Given the description of an element on the screen output the (x, y) to click on. 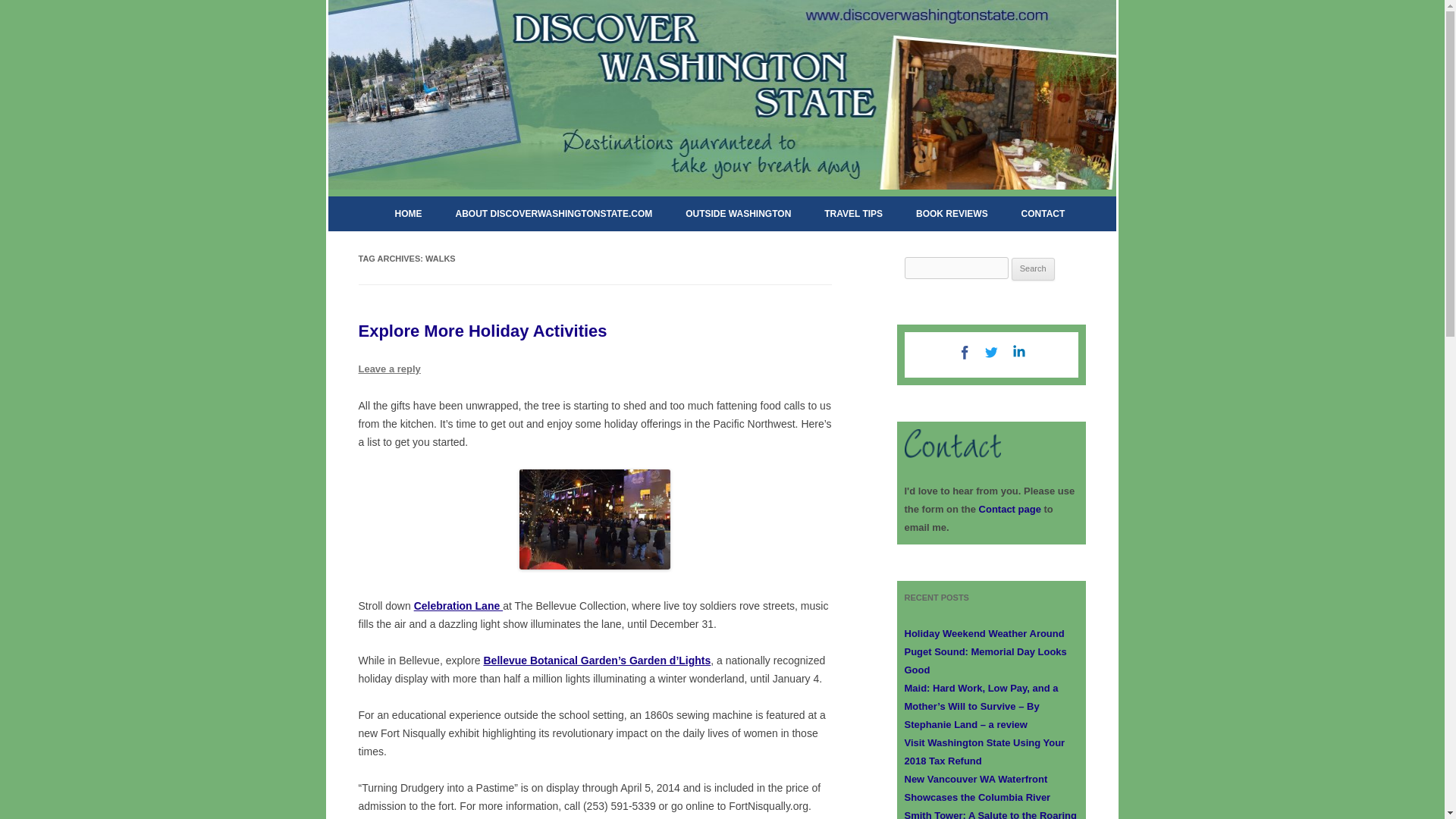
OUTSIDE WASHINGTON (737, 213)
Celebration Lane (457, 605)
HOME (408, 213)
DSCF0249 (594, 519)
CONTACT (1043, 213)
Explore More Holiday Activities (482, 330)
BOOK REVIEWS (951, 213)
TRAVEL TIPS (852, 213)
contact (952, 443)
Leave a reply (389, 368)
ABOUT DISCOVERWASHINGTONSTATE.COM (552, 213)
Search (1032, 268)
DiscoverWashingtonState.com (472, 9)
